Given the description of an element on the screen output the (x, y) to click on. 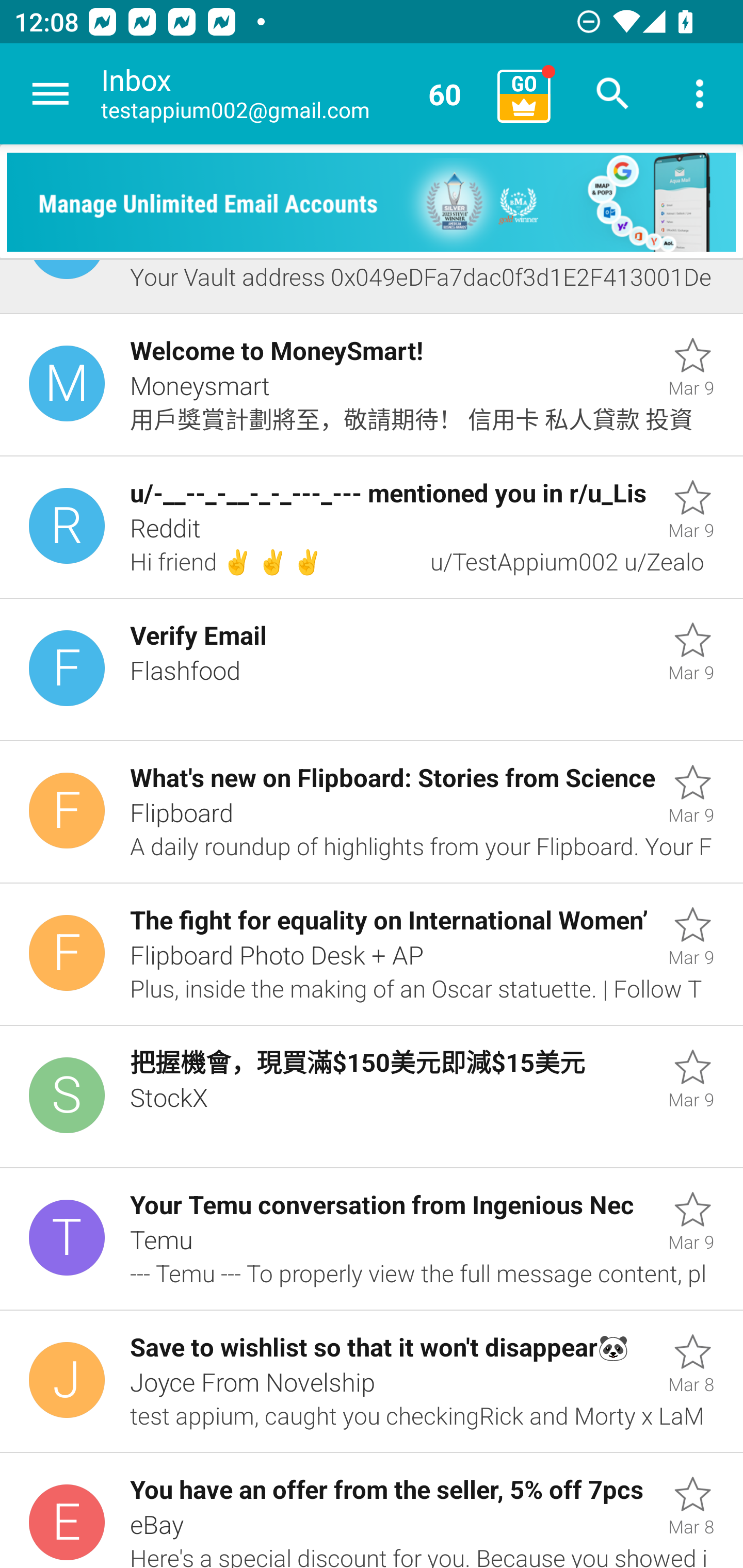
Navigate up (50, 93)
Inbox testappium002@gmail.com 60 (291, 93)
Search (612, 93)
More options (699, 93)
Unread, Verify Email, Flashfood, Mar 9 (371, 669)
Unread, 把握機會，現買滿$150美元即減$15美元, StockX, Mar 9 (371, 1096)
